Given the description of an element on the screen output the (x, y) to click on. 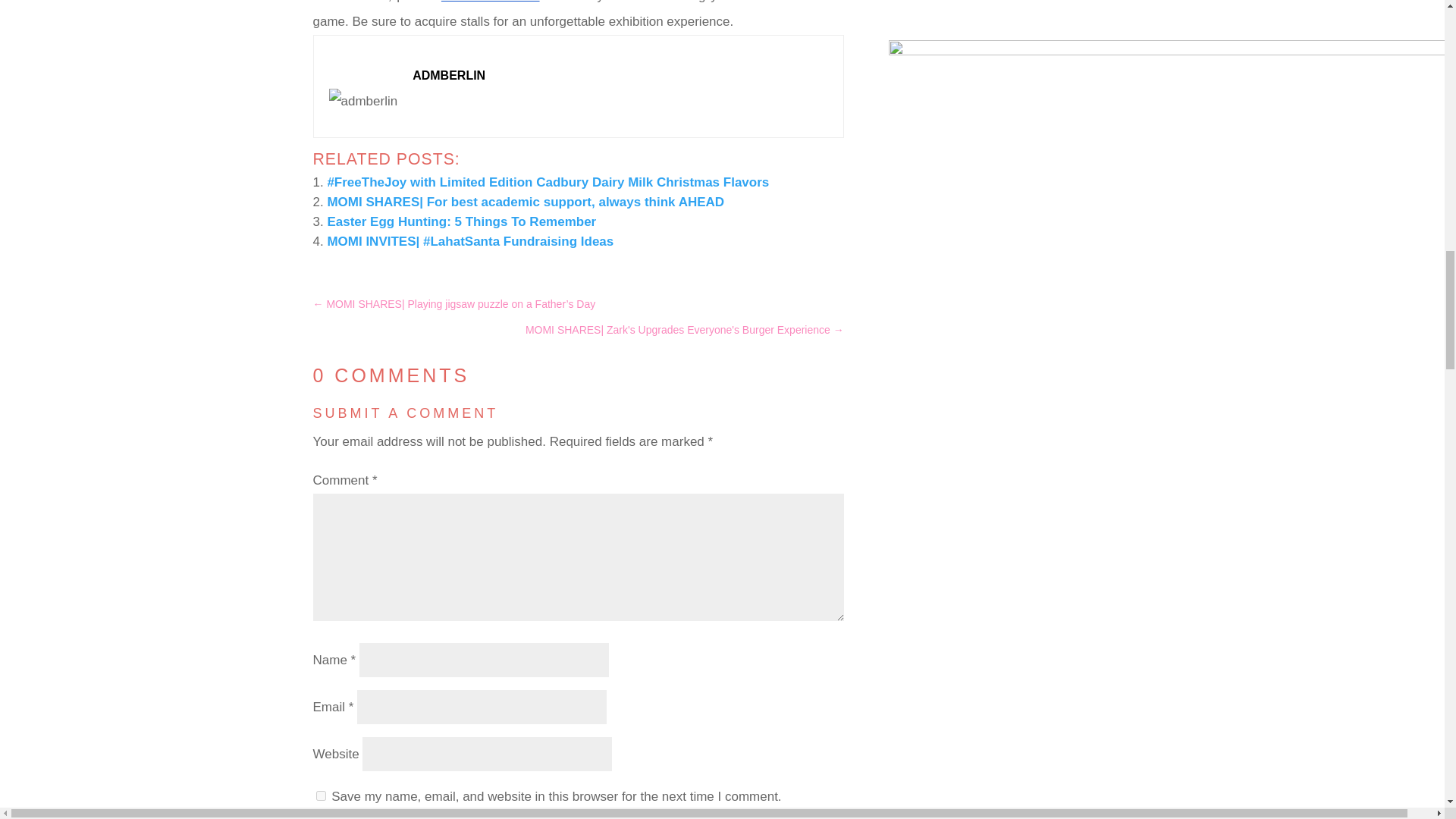
exhibition booths (490, 1)
yes (319, 795)
Easter Egg Hunting: 5 Things To Remember (460, 221)
Easter Egg Hunting: 5 Things To Remember (460, 221)
ADMBERLIN (448, 74)
